Given the description of an element on the screen output the (x, y) to click on. 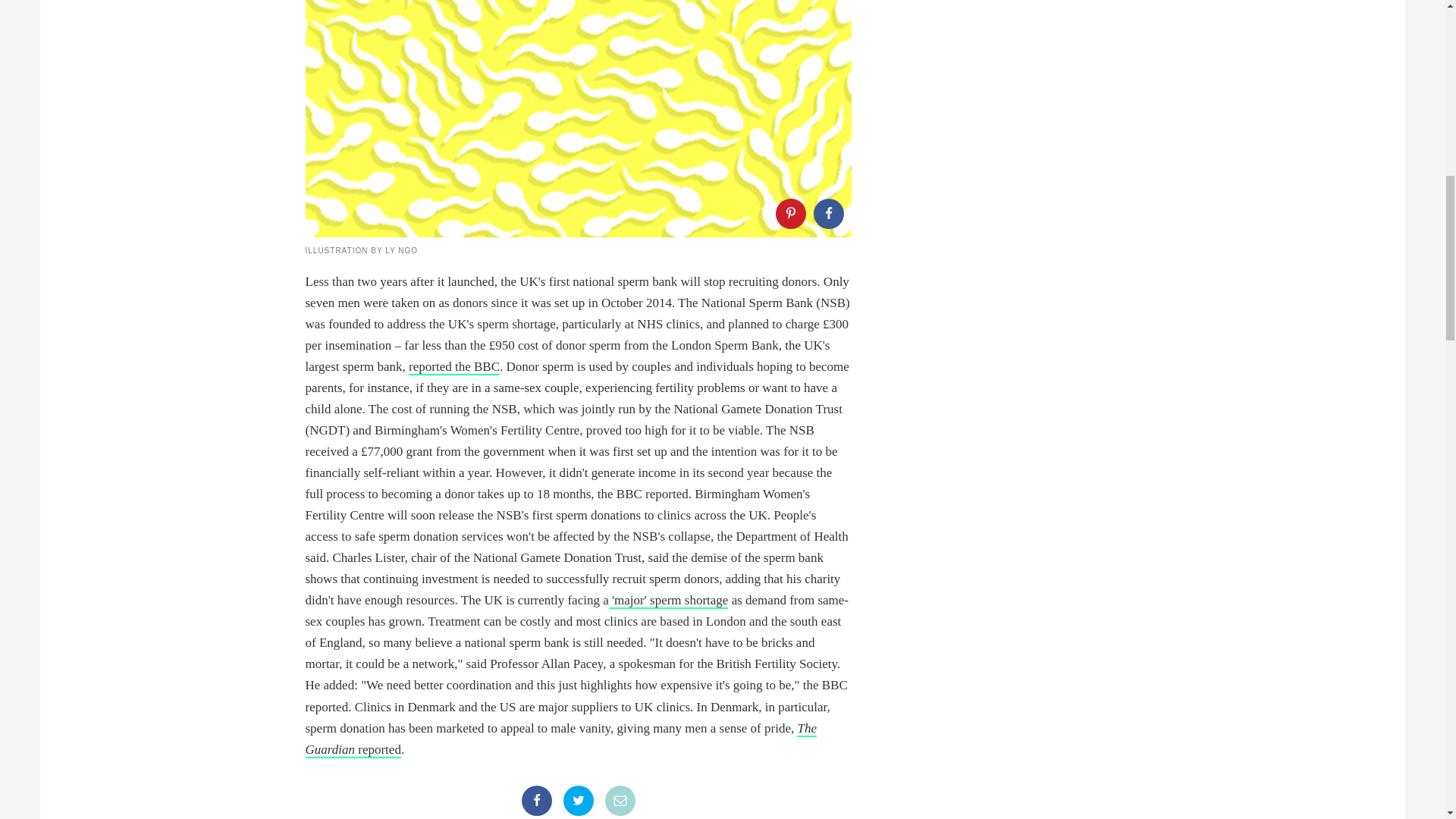
reported the BBC (454, 367)
Share by Email (619, 800)
The Guardian reported (559, 739)
Share on Facebook (827, 214)
Share on Twitter (577, 800)
Share on Facebook (536, 800)
Share on Pinterest (789, 214)
'major' sperm shortage (668, 600)
